Given the description of an element on the screen output the (x, y) to click on. 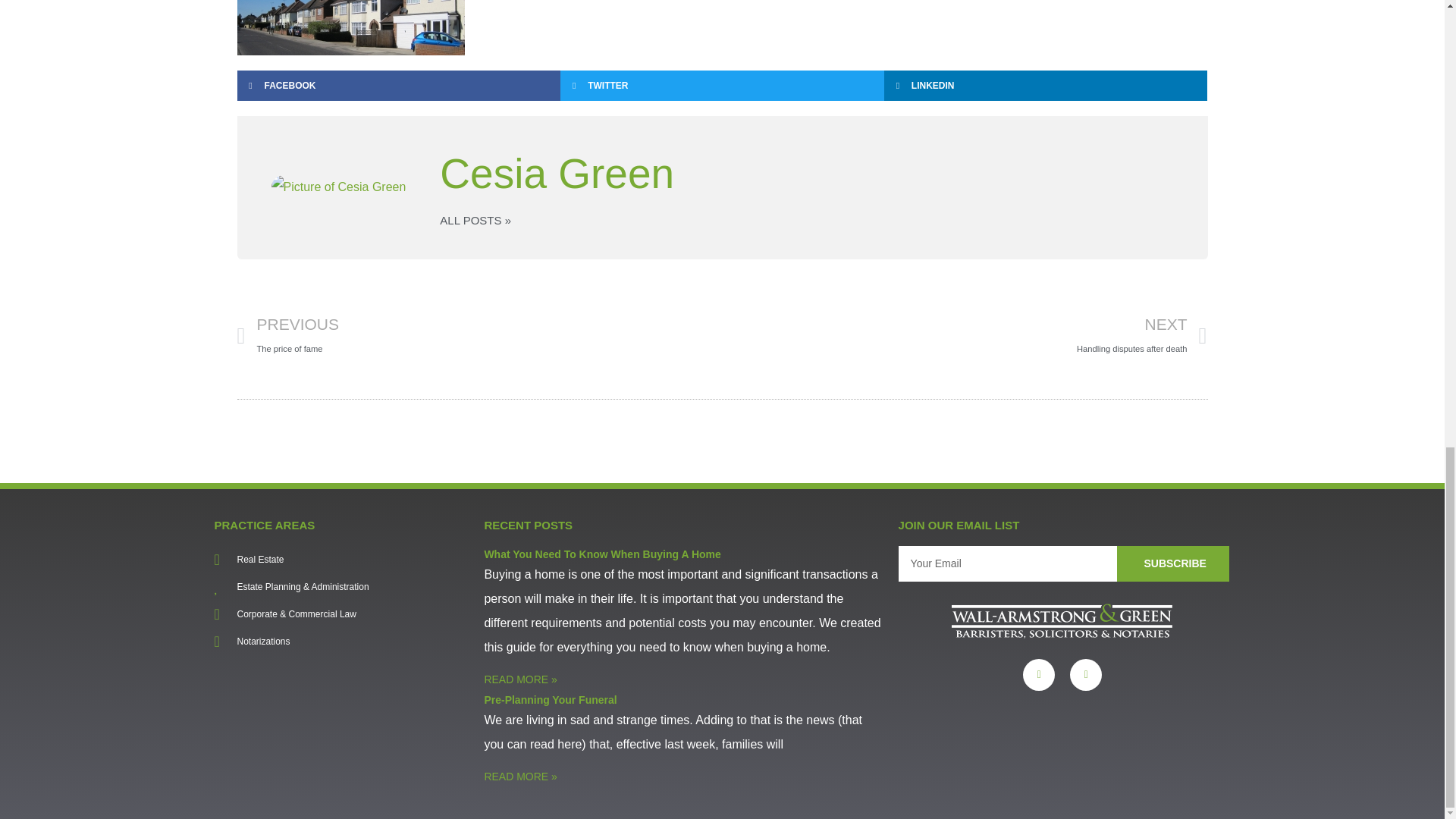
Suburb (349, 27)
